Given the description of an element on the screen output the (x, y) to click on. 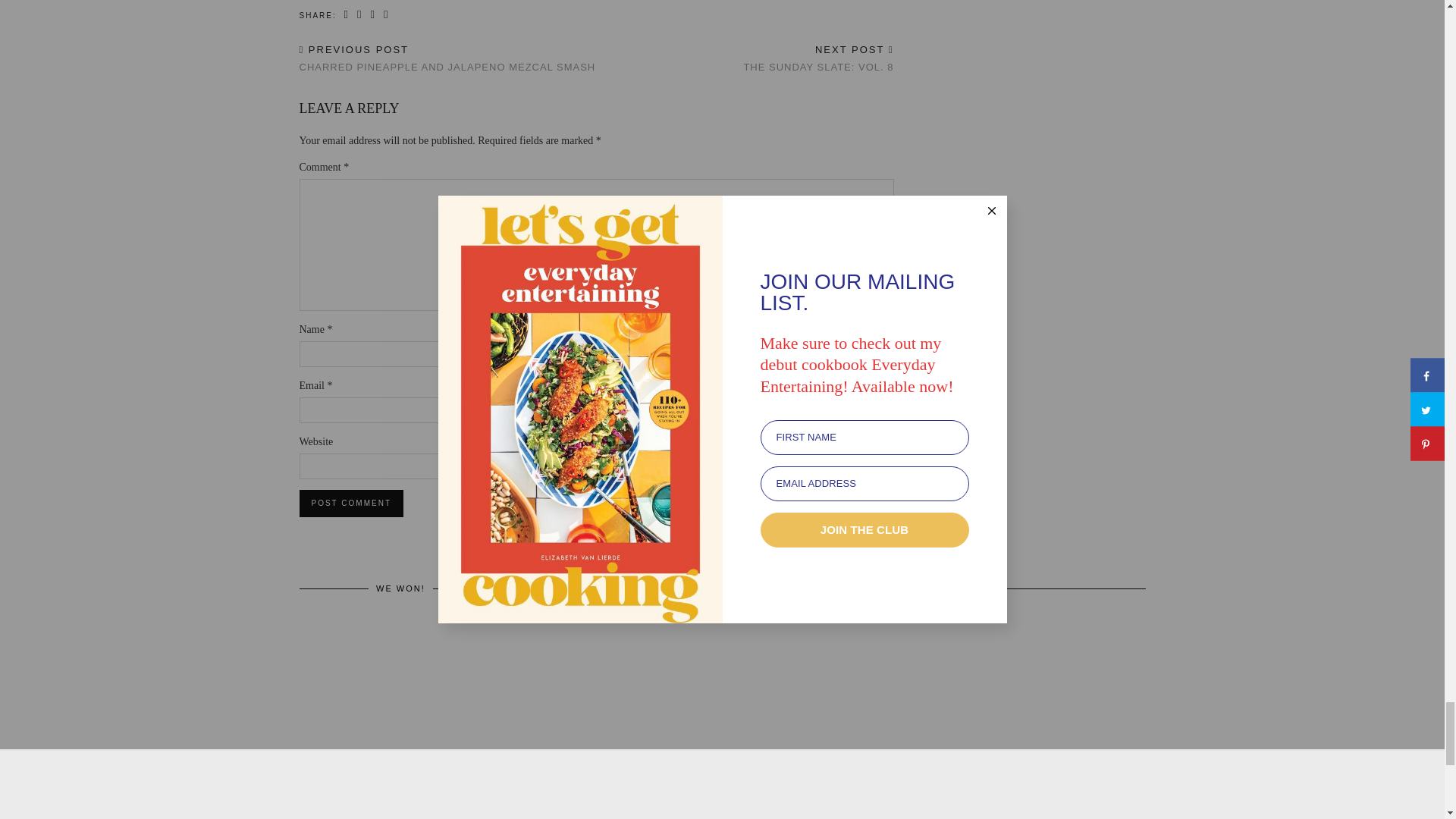
Post Comment (350, 502)
